Given the description of an element on the screen output the (x, y) to click on. 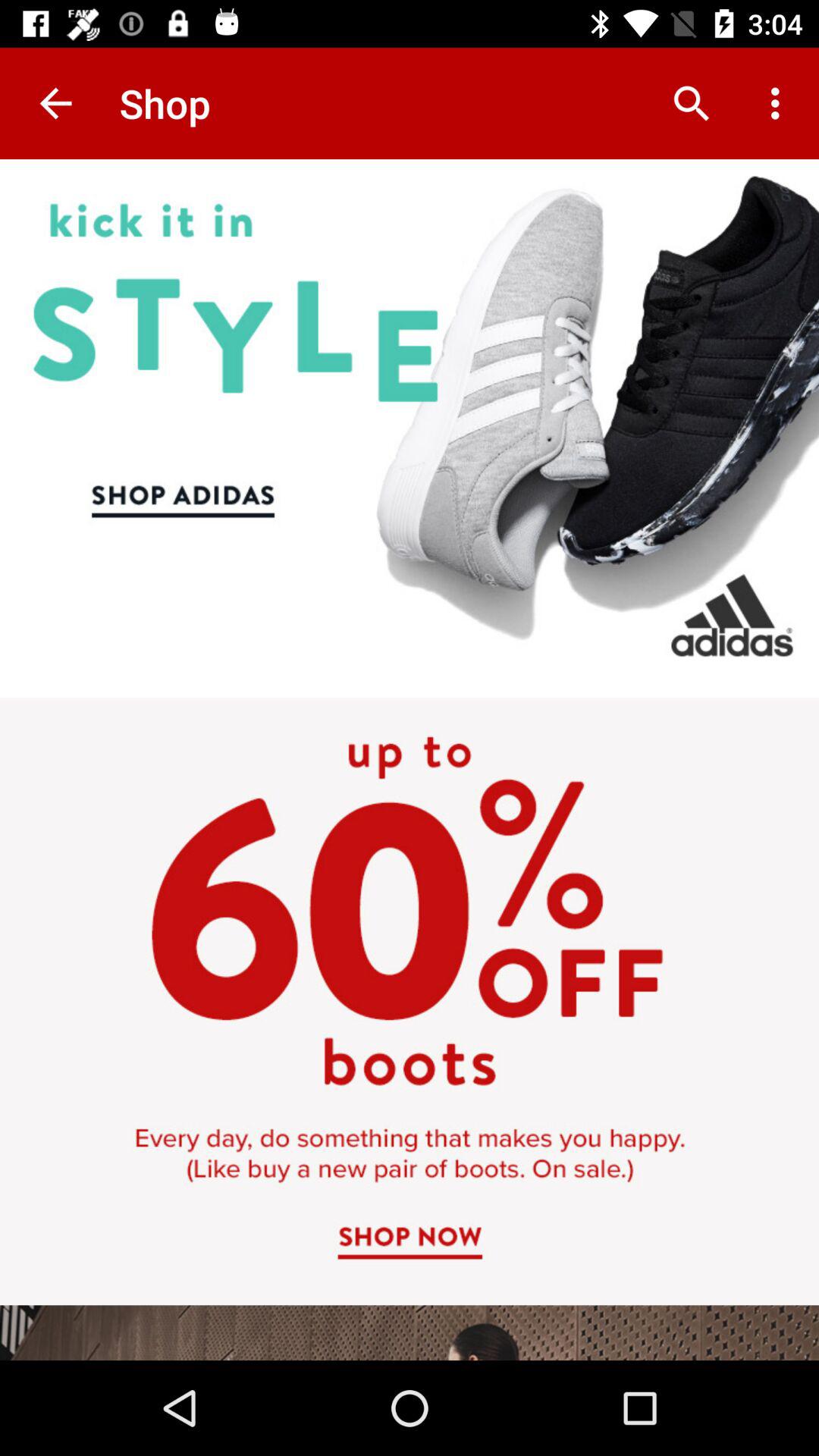
shopping image page (409, 759)
